Given the description of an element on the screen output the (x, y) to click on. 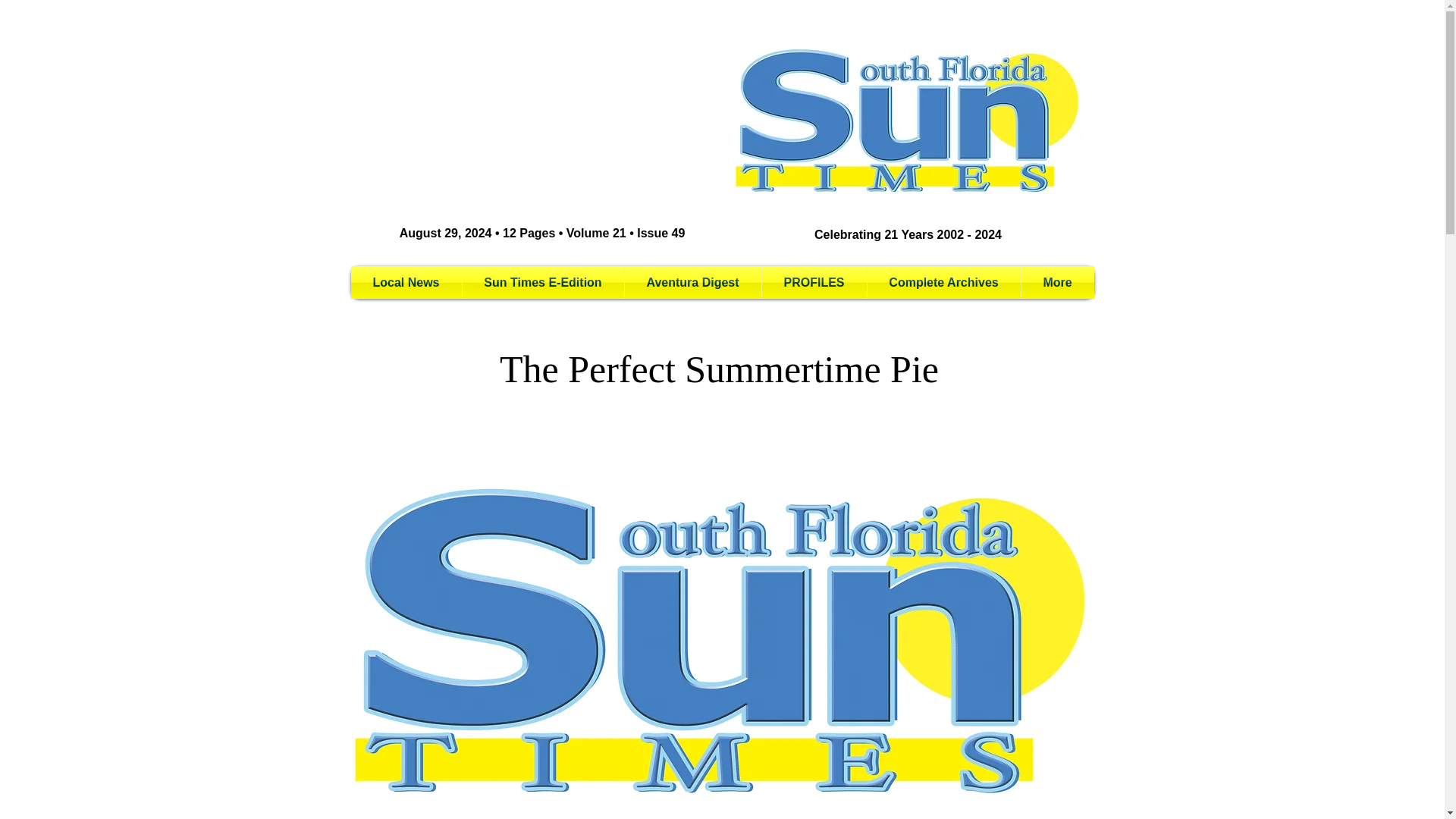
Aventura Digest (692, 282)
PROFILES (813, 282)
Local News (405, 282)
Complete Archives (943, 282)
Sun Times E-Edition (543, 282)
Sun Times Logo.jpg (908, 121)
